Given the description of an element on the screen output the (x, y) to click on. 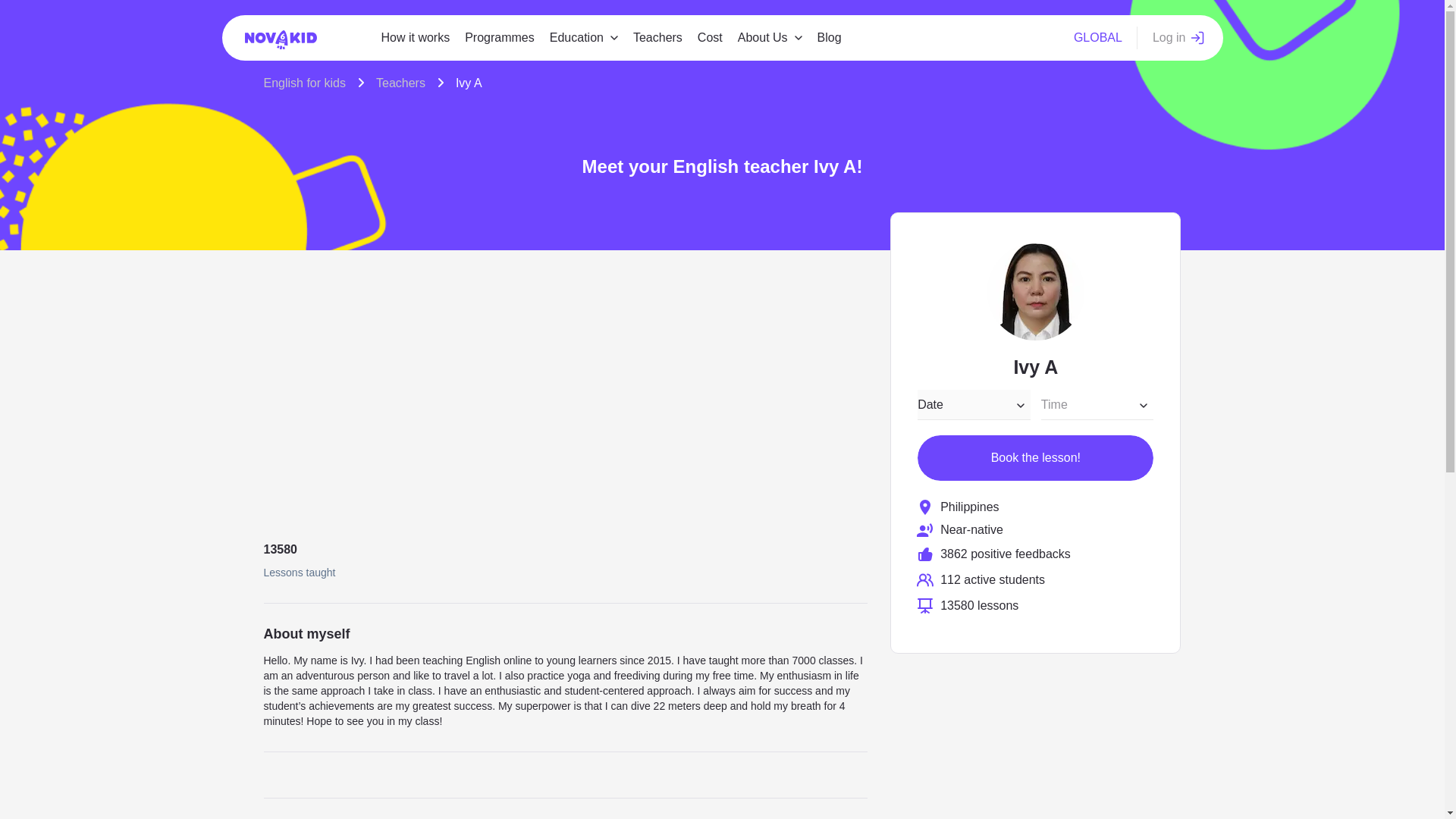
Time (1097, 404)
English for kids (314, 83)
Cost (709, 37)
About Us (762, 37)
Programmes (499, 37)
Blog (828, 37)
Log in (1179, 37)
Education (577, 37)
Date (973, 404)
